Given the description of an element on the screen output the (x, y) to click on. 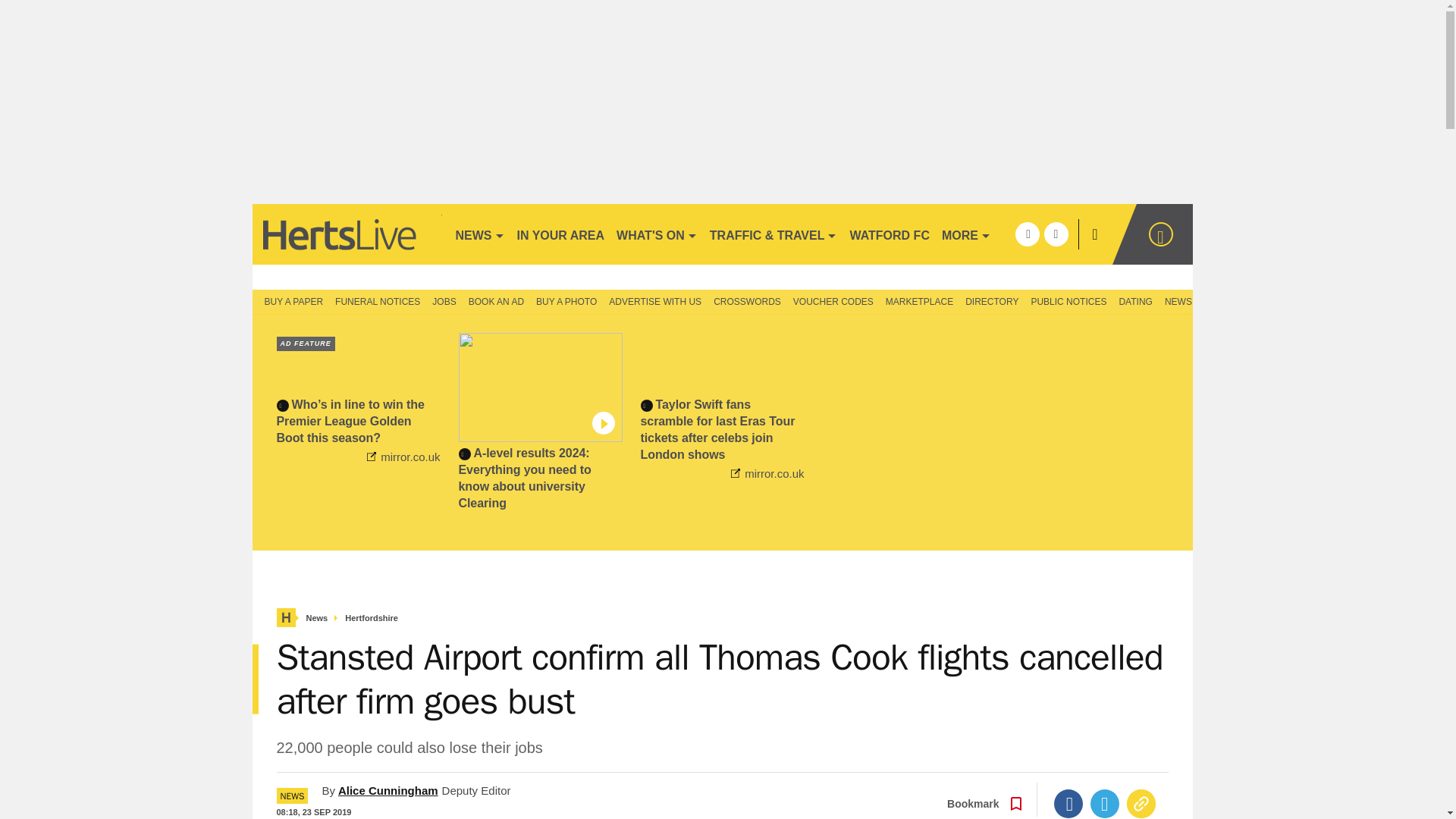
WHAT'S ON (656, 233)
twitter (1055, 233)
WATFORD FC (888, 233)
IN YOUR AREA (561, 233)
NEWS (479, 233)
Twitter (1104, 803)
facebook (1026, 233)
hertfordshiremercury (346, 233)
MORE (966, 233)
Facebook (1068, 803)
